Given the description of an element on the screen output the (x, y) to click on. 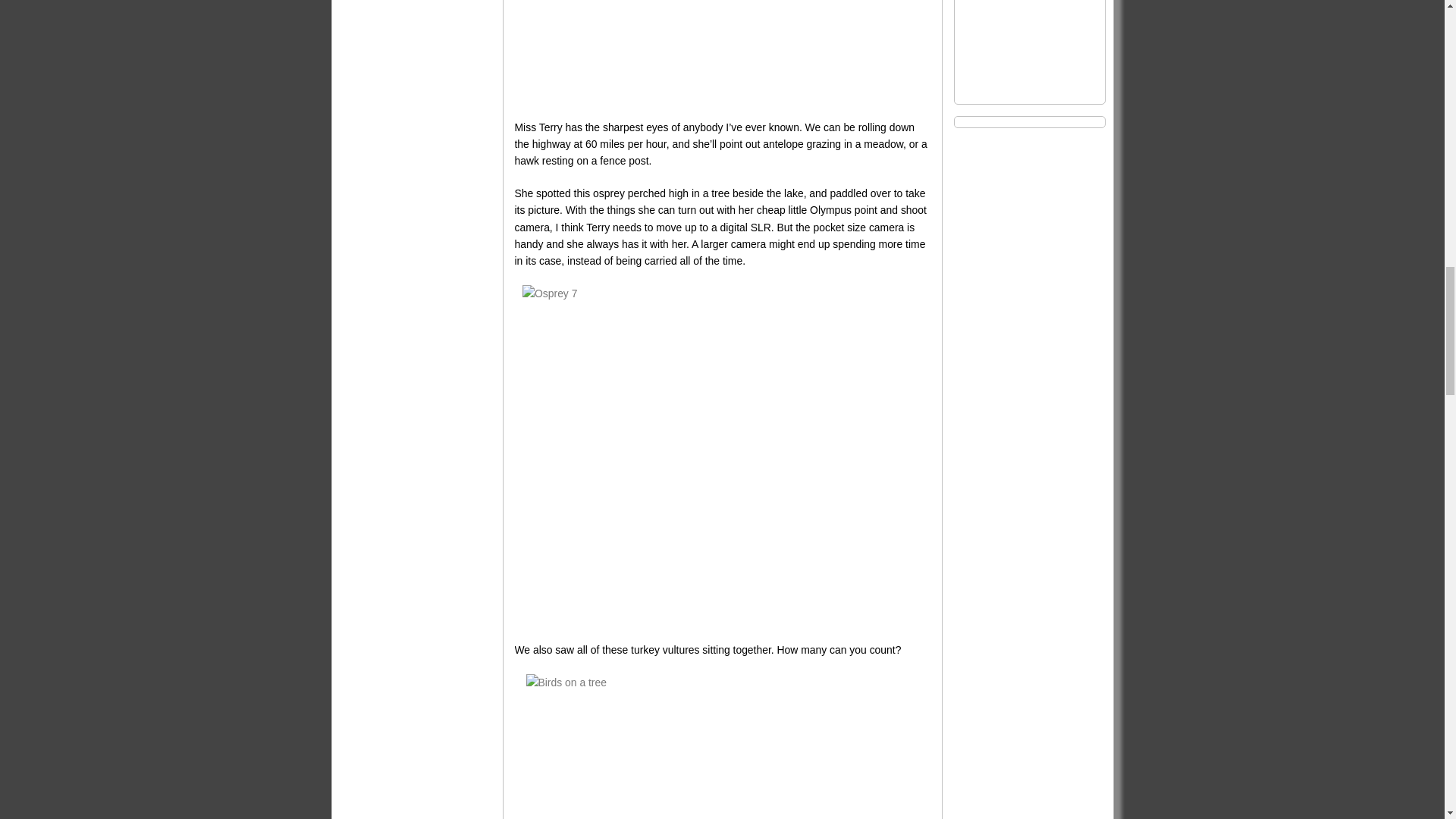
Birds on a tree (721, 746)
Nick Paddling Lake Hancock 4 (721, 51)
